Given the description of an element on the screen output the (x, y) to click on. 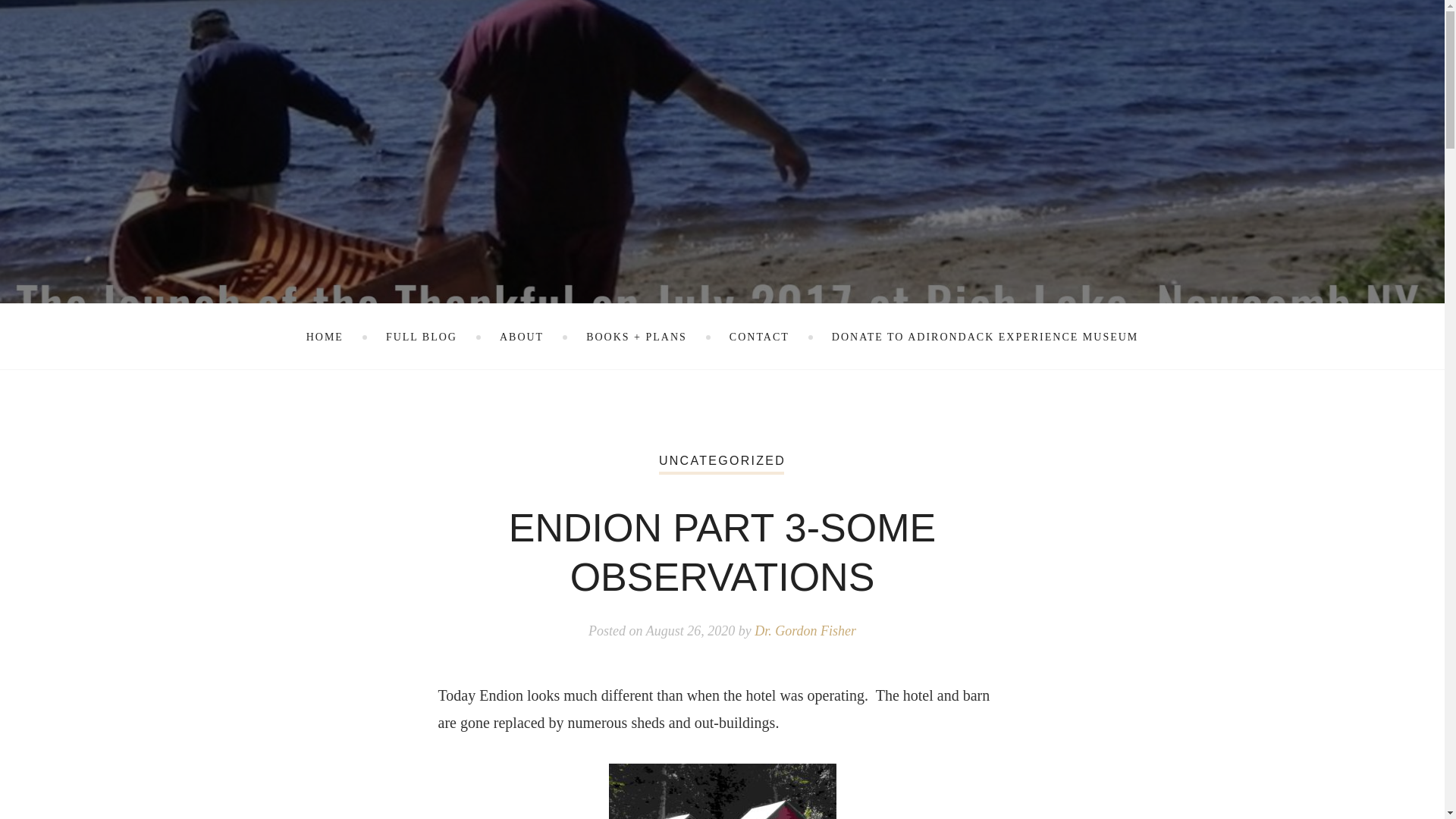
Dr. Gordon Fisher (805, 630)
UNCATEGORIZED (722, 460)
FULL BLOG (421, 336)
ABOUT (521, 336)
CONTACT (759, 336)
HOME (324, 336)
DONATE TO ADIRONDACK EXPERIENCE MUSEUM (984, 336)
